Given the description of an element on the screen output the (x, y) to click on. 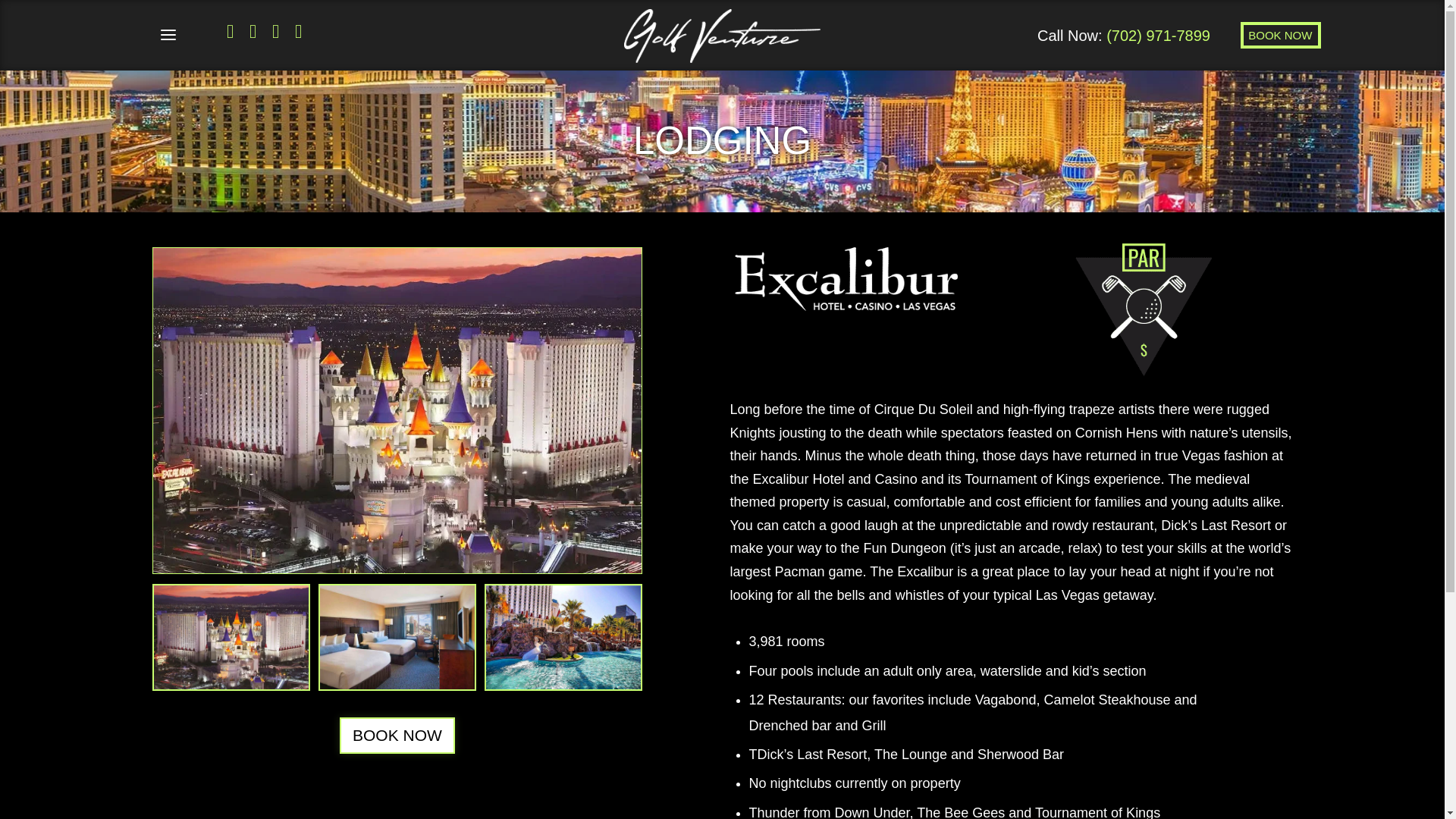
Facebook (230, 31)
Linkedin (297, 31)
BOOK NOW (396, 735)
BOOK NOW (1280, 35)
Twitter (275, 31)
Instagram (252, 31)
